Given the description of an element on the screen output the (x, y) to click on. 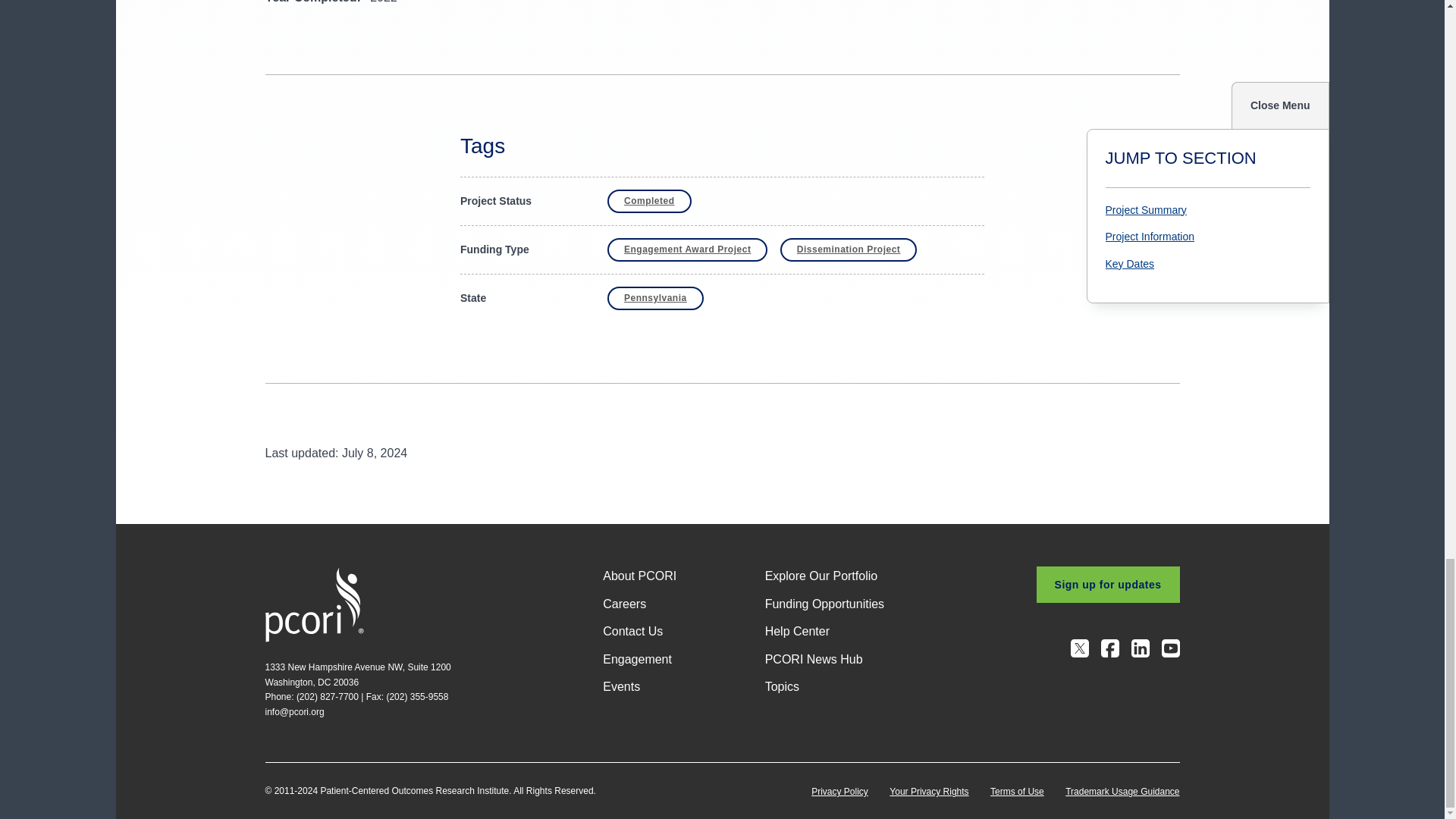
Home (314, 604)
